Given the description of an element on the screen output the (x, y) to click on. 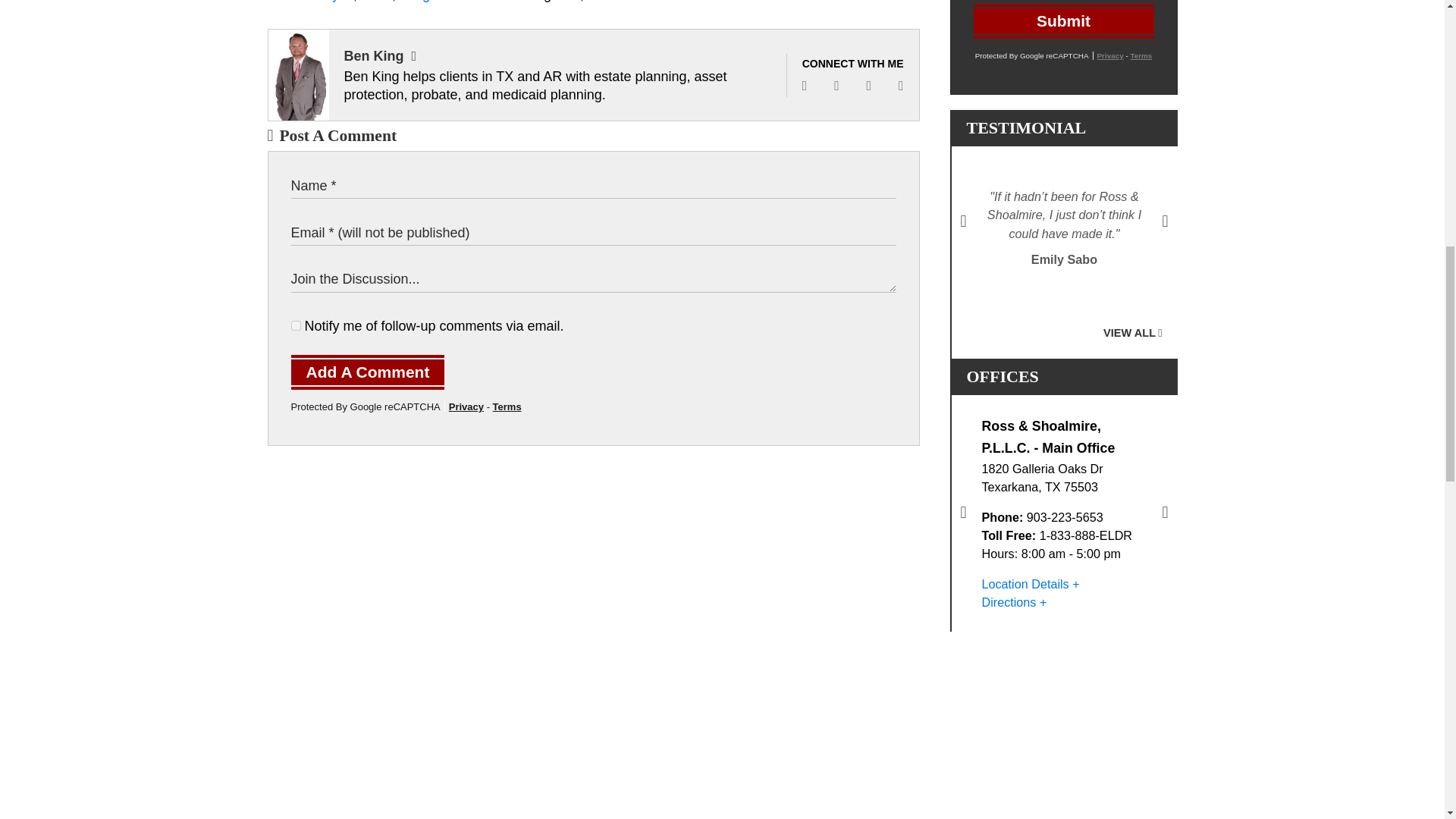
1 (296, 325)
